Given the description of an element on the screen output the (x, y) to click on. 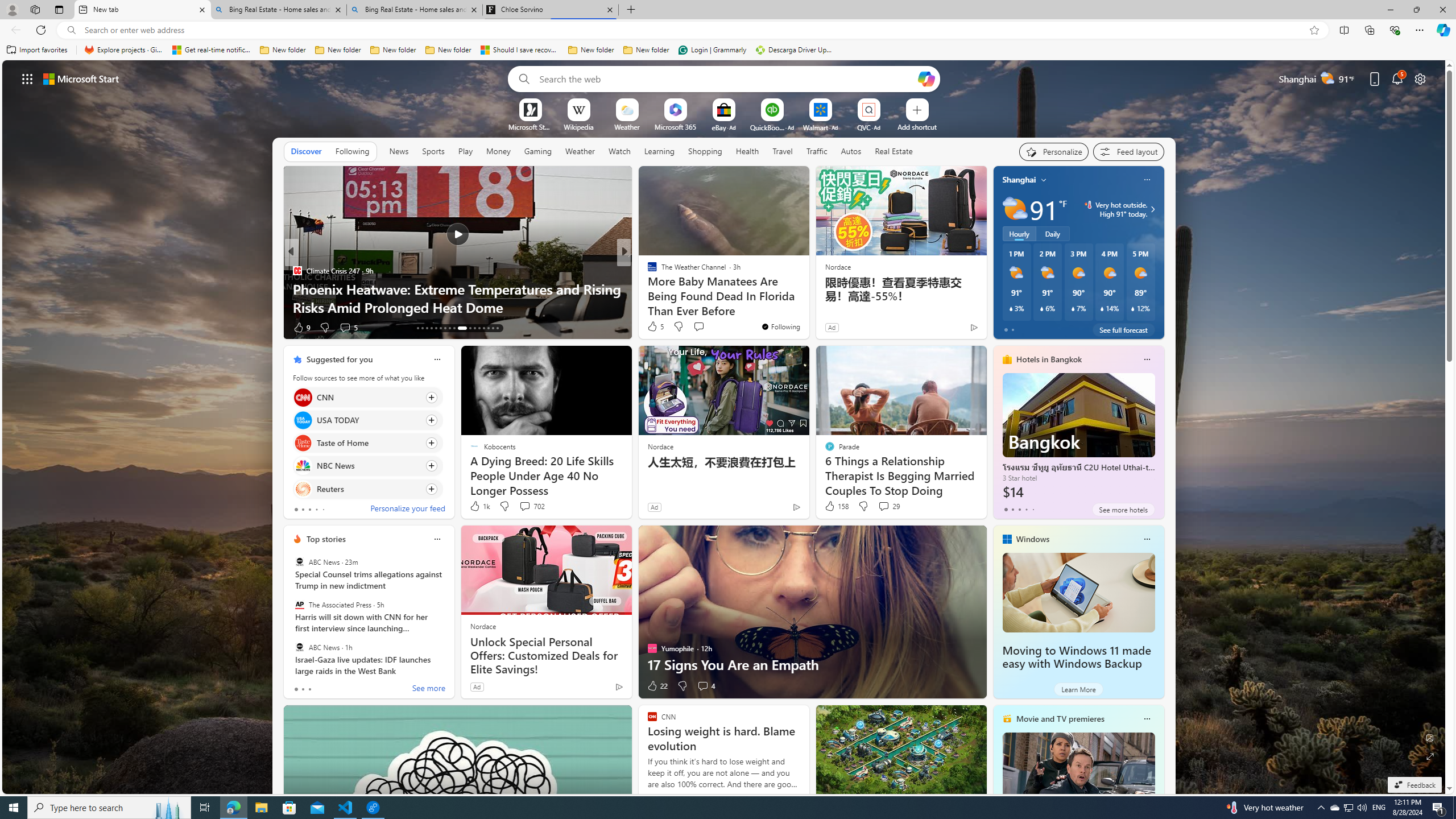
View comments 1 Comment (698, 327)
Reuters (302, 488)
You're following The Weather Channel (780, 326)
AutomationID: tab-39 (483, 328)
Bing Real Estate - Home sales and rental listings (414, 9)
AutomationID: tab-14 (422, 328)
Chloe Sorvino (550, 9)
